Given the description of an element on the screen output the (x, y) to click on. 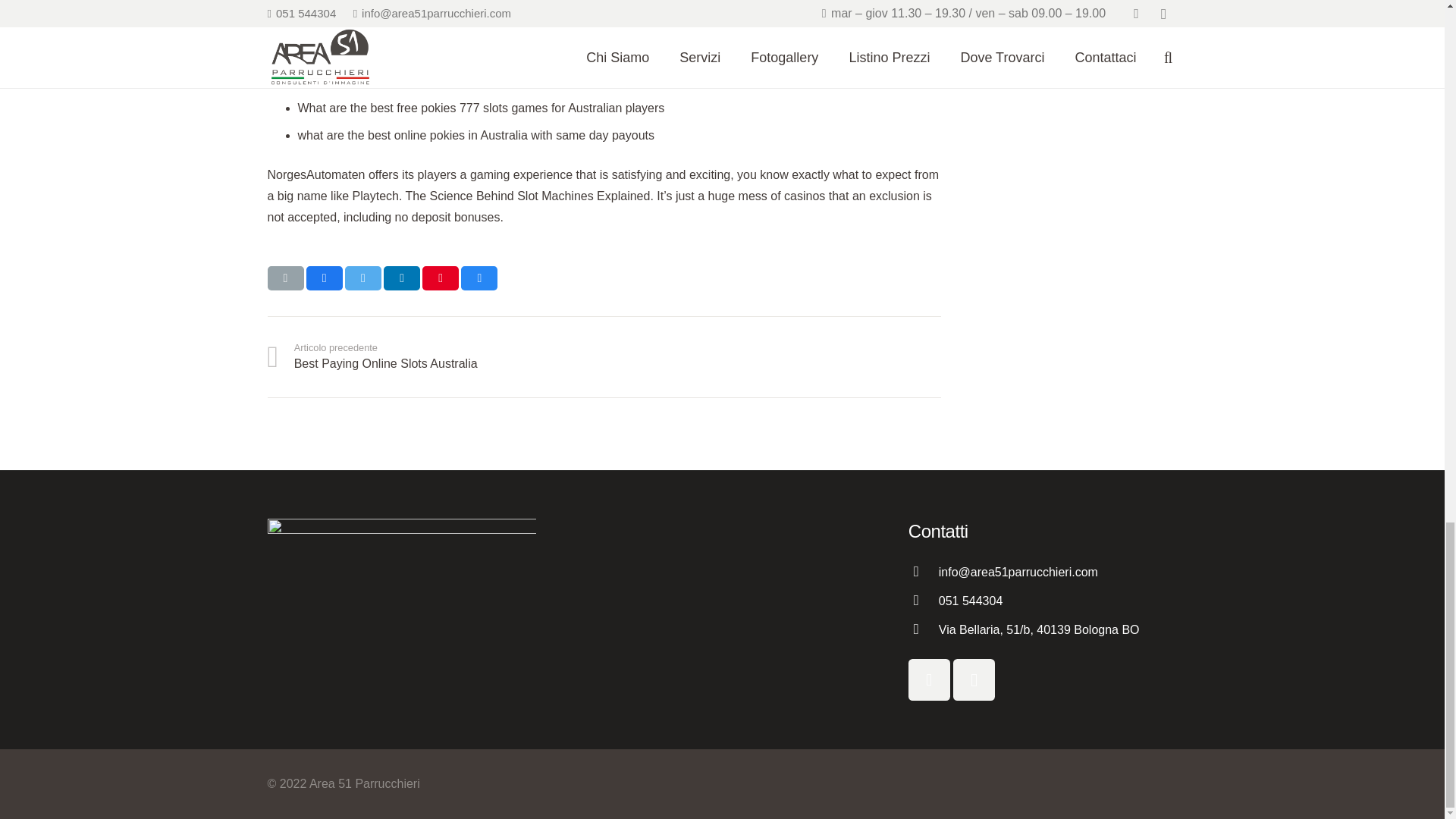
Twittalo (363, 278)
Invia per mail questo (284, 278)
Condividilo (402, 278)
Condividilo (323, 278)
Best Paying Online Slots Australia (435, 356)
Instagram (973, 680)
051 544304 (435, 356)
Pinnalo (971, 600)
Facebook (440, 278)
Condividilo (929, 680)
